Given the description of an element on the screen output the (x, y) to click on. 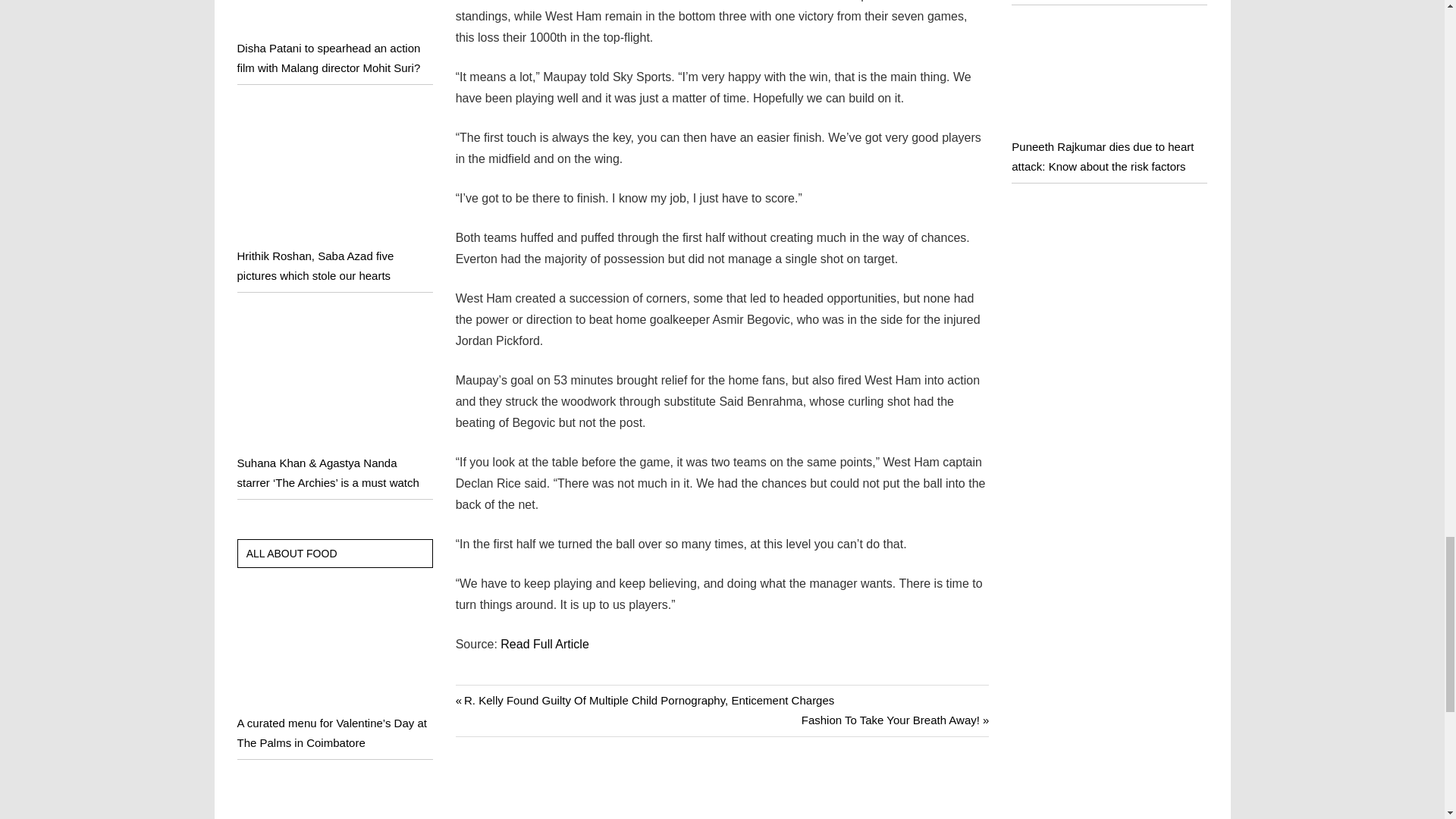
Read Full Article (544, 644)
